Given the description of an element on the screen output the (x, y) to click on. 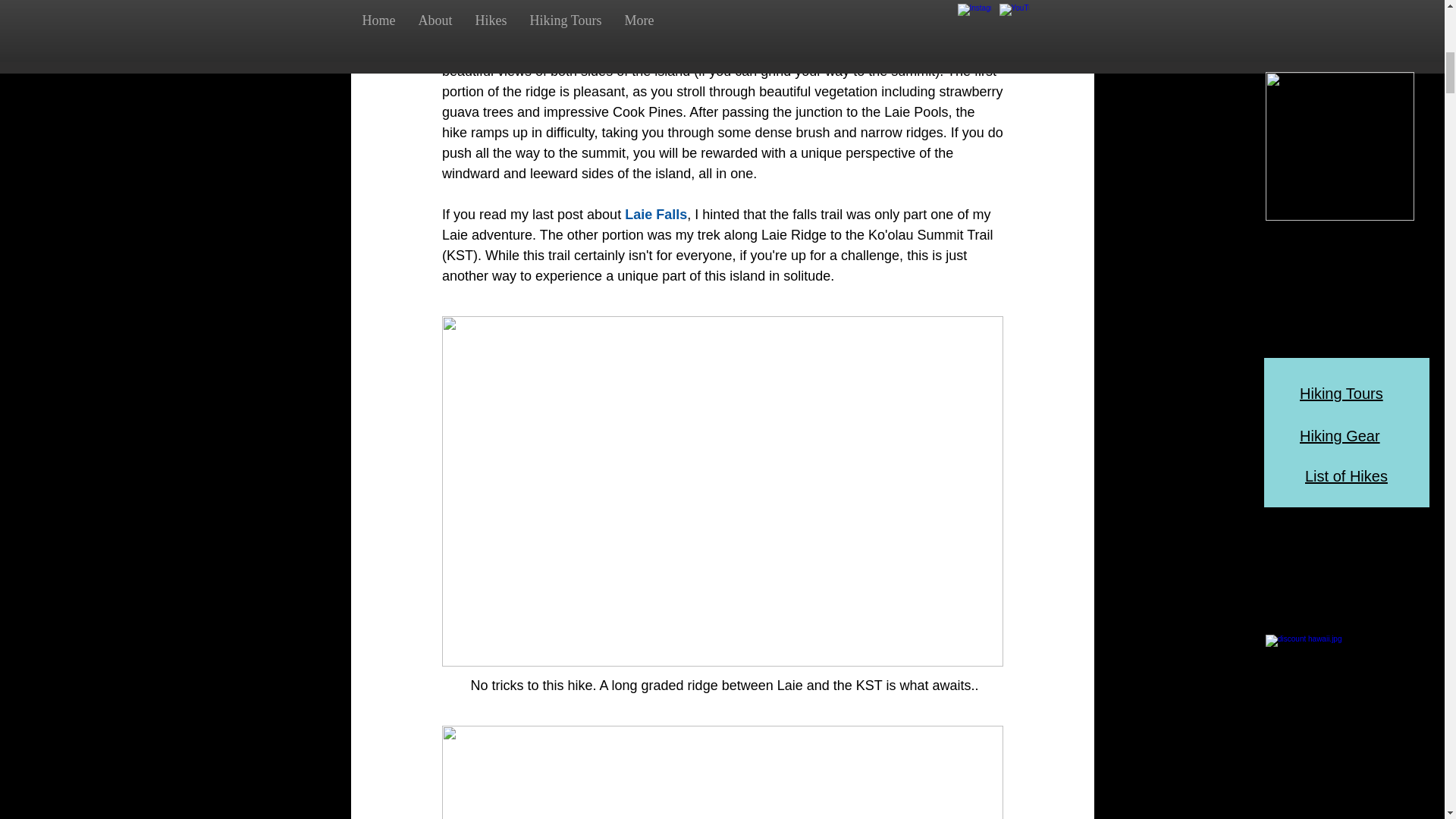
Laie Falls (655, 214)
